Given the description of an element on the screen output the (x, y) to click on. 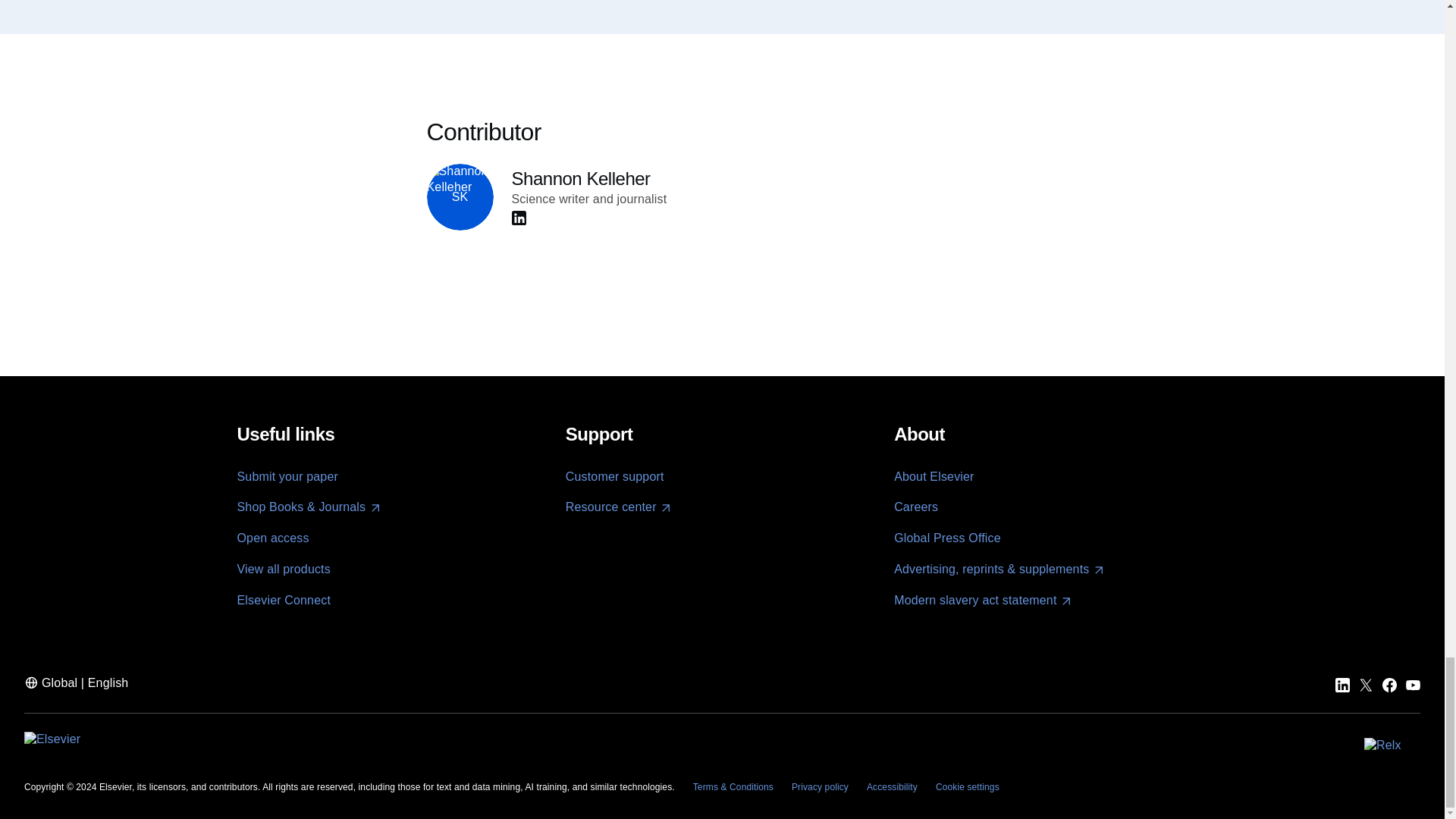
Global Press Office (947, 537)
Elsevier Connect (282, 599)
View all products (282, 568)
Open access (271, 537)
Customer support (614, 476)
Careers (915, 506)
Resource center (618, 507)
Submit your paper (286, 476)
About Elsevier (933, 476)
